Given the description of an element on the screen output the (x, y) to click on. 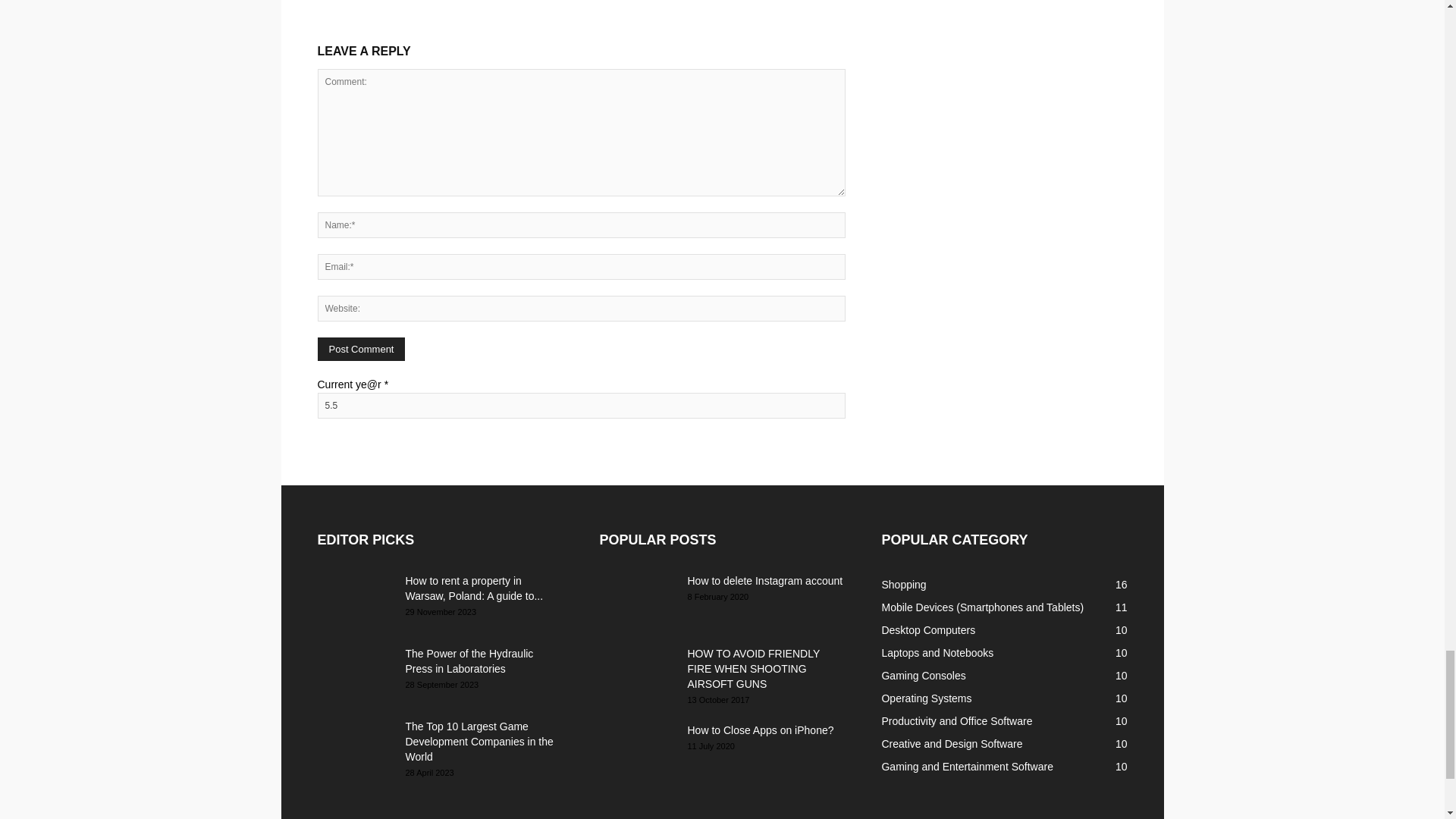
5.5 (580, 405)
Post Comment (360, 349)
